Given the description of an element on the screen output the (x, y) to click on. 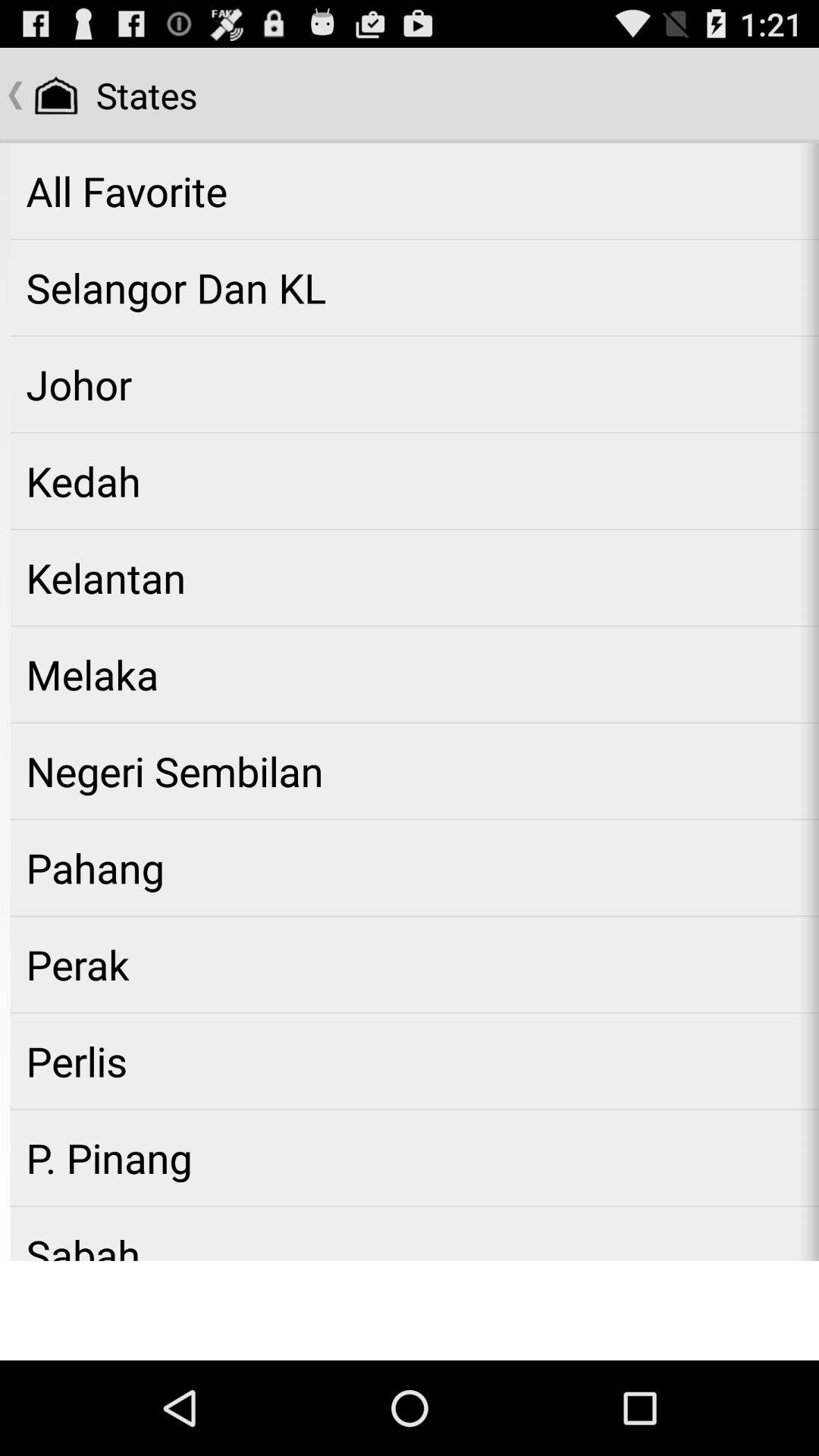
open item below sabah app (409, 1310)
